Given the description of an element on the screen output the (x, y) to click on. 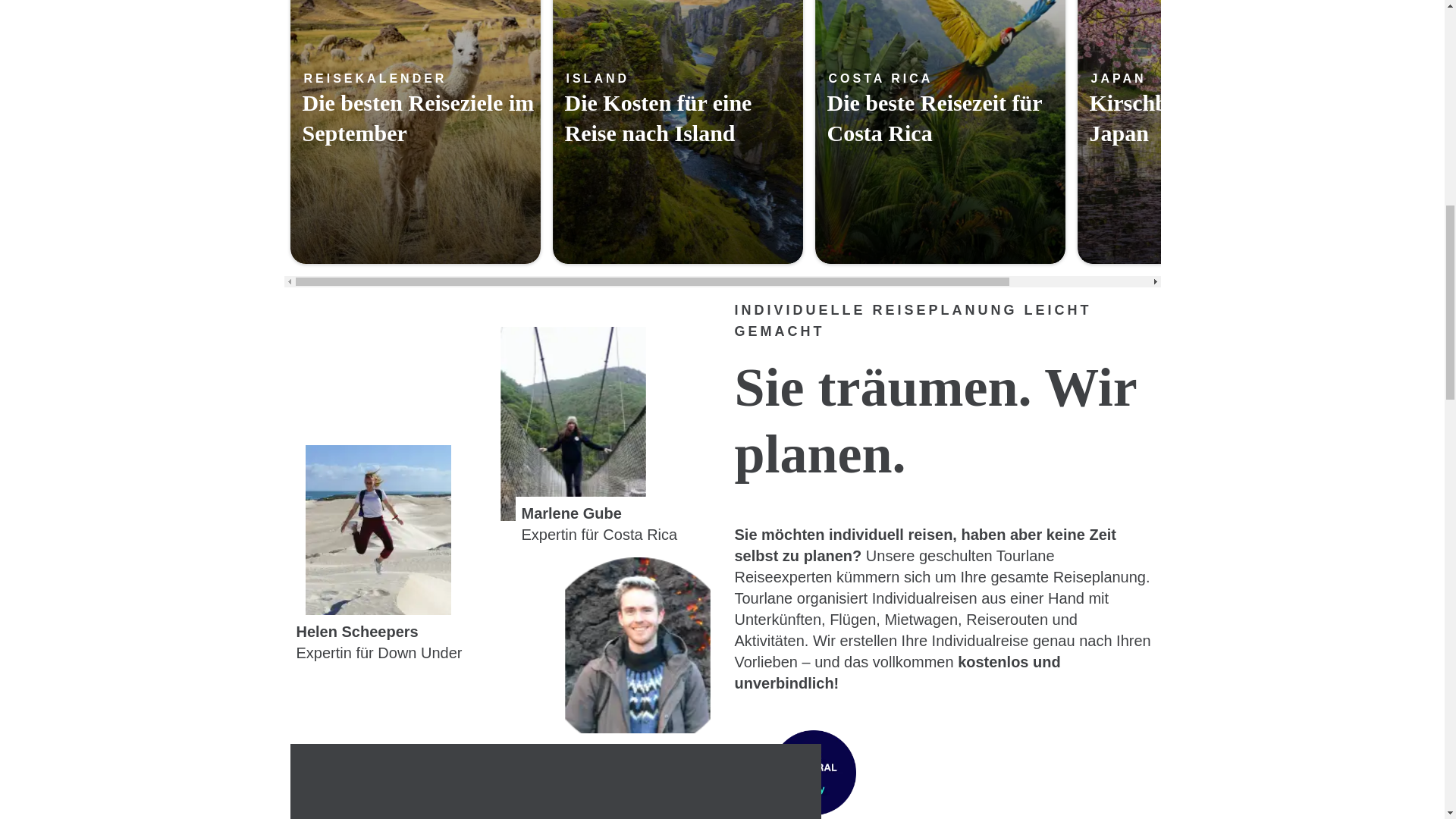
Zertifikat Planetly DE (812, 772)
